Given the description of an element on the screen output the (x, y) to click on. 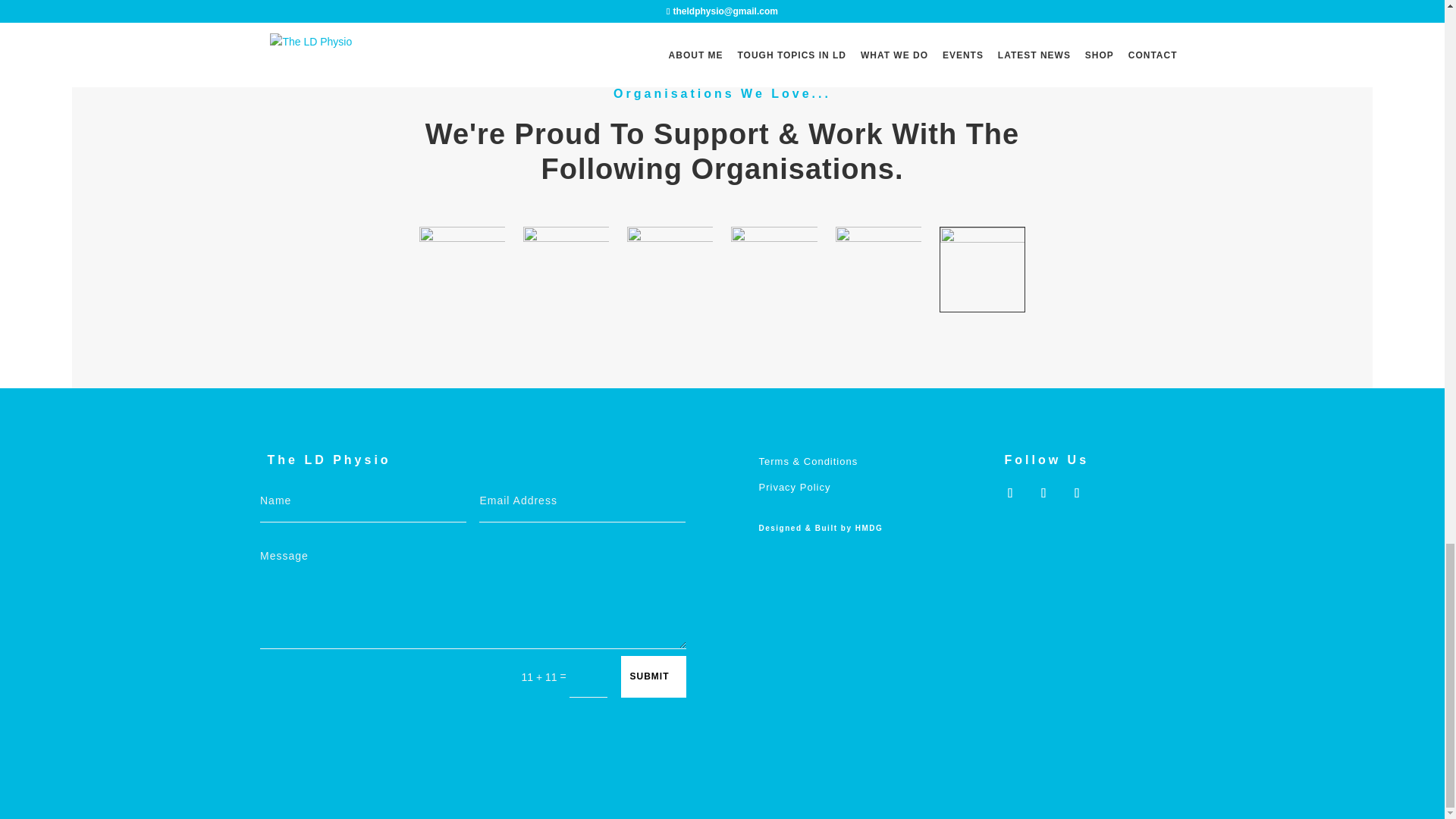
Follow on Instagram (1043, 492)
pmat (773, 269)
SUBMIT (652, 676)
csp (461, 269)
Follow on X (1009, 492)
tlc (878, 269)
acppld (565, 269)
Follow on Youtube (1076, 492)
shallam (670, 269)
